Given the description of an element on the screen output the (x, y) to click on. 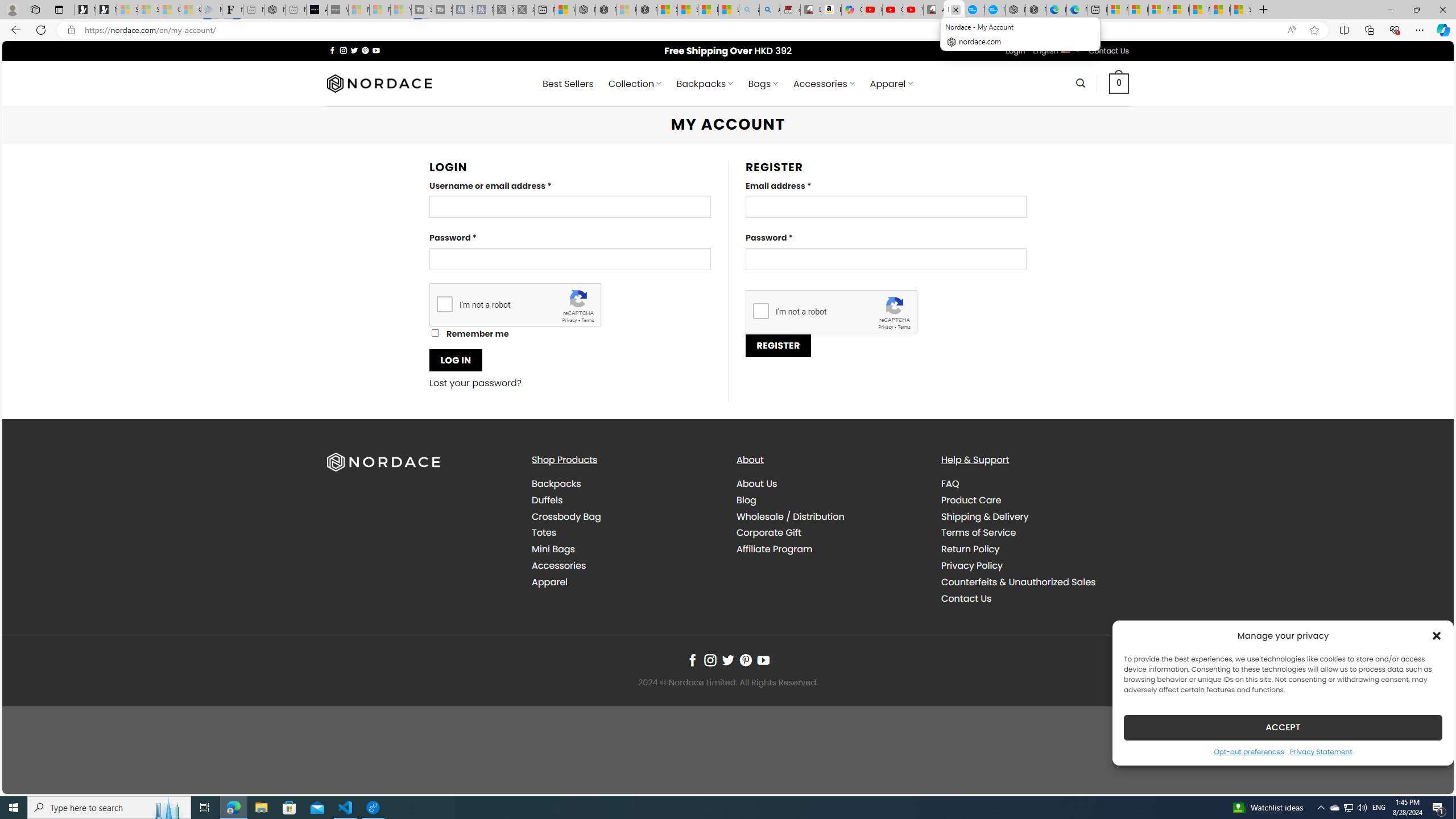
Follow on Instagram (710, 659)
Microsoft Start Sports - Sleeping (358, 9)
Duffels (625, 499)
Amazon Echo Dot PNG - Search Images (769, 9)
Blog (830, 499)
Microsoft account | Privacy (1178, 9)
Login (1015, 50)
Follow on Twitter (727, 659)
Streaming Coverage | T3 - Sleeping (421, 9)
